Given the description of an element on the screen output the (x, y) to click on. 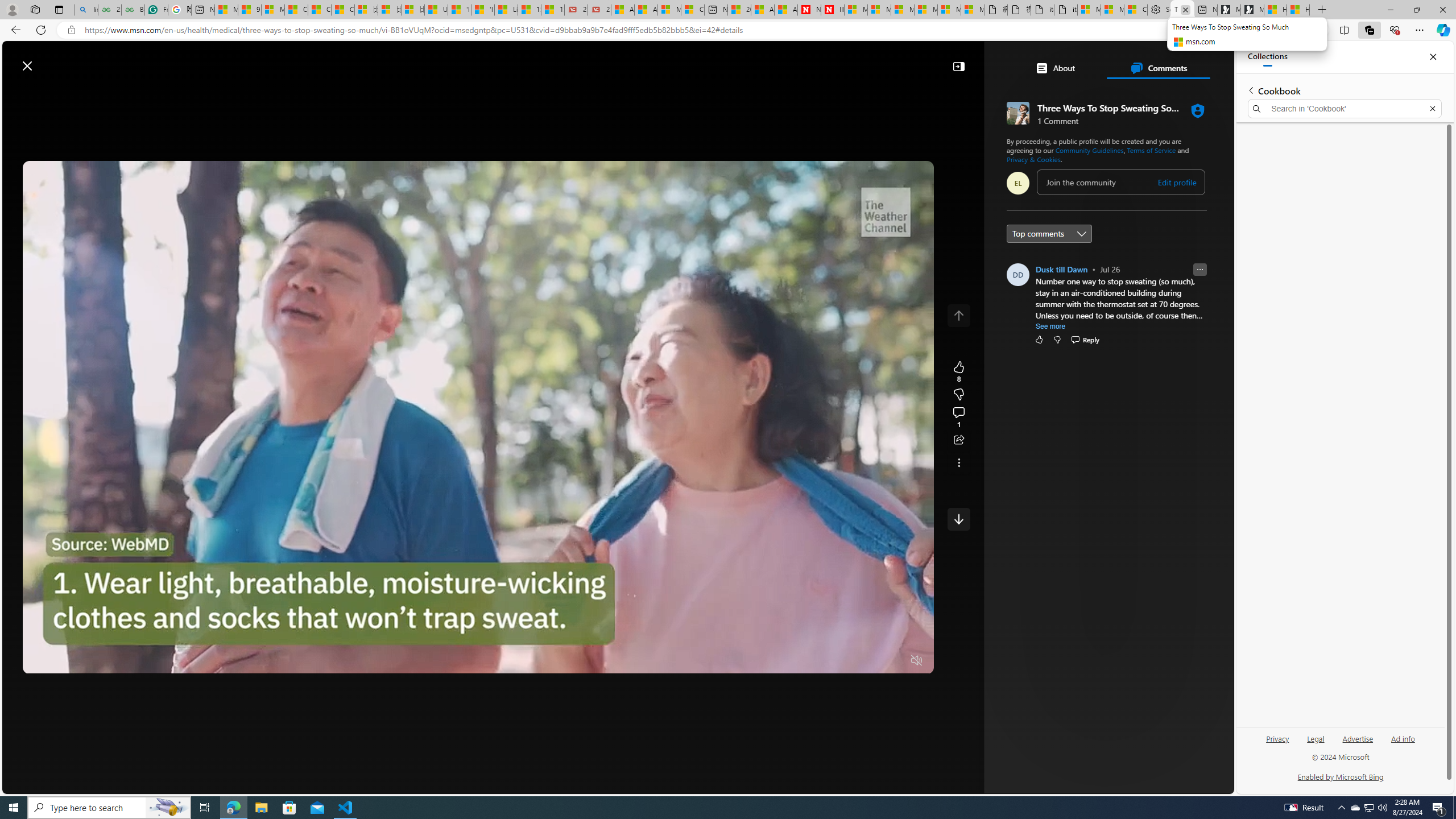
20 Ways to Boost Your Protein Intake at Every Meal (738, 9)
Share this story (958, 440)
Class: control icon-only (958, 315)
Unmute (916, 660)
Try personal training with ... (1122, 571)
